Given the description of an element on the screen output the (x, y) to click on. 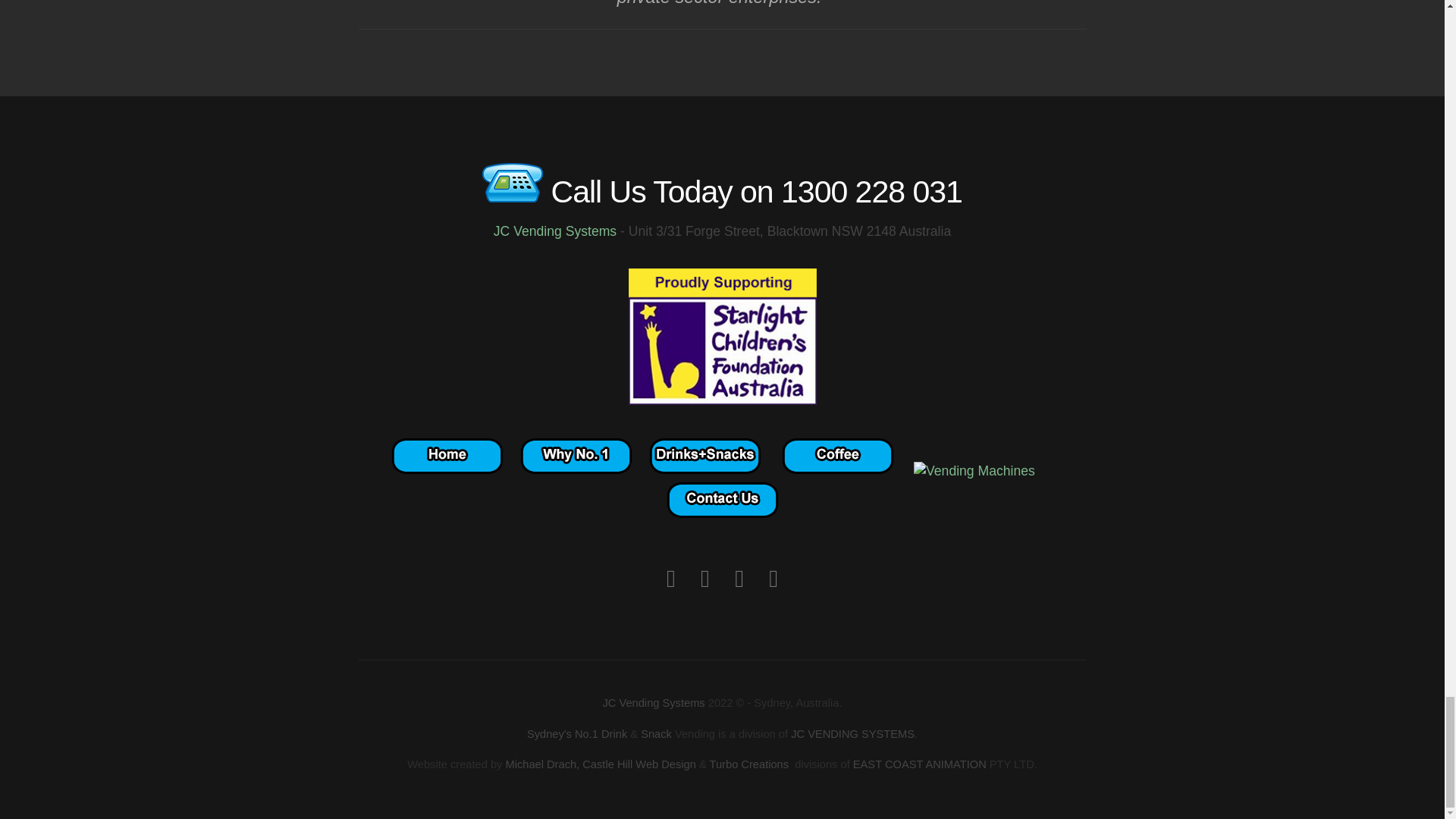
JC Vending Systems (653, 702)
Michael Drach, (542, 764)
Castle Hill Web Design (638, 764)
Snack (655, 734)
JC Vending Systems (556, 231)
Drink (614, 734)
JC VENDING SYSTEMS (852, 734)
Sydney's No.1 (562, 734)
Turbo Creations (749, 764)
